Given the description of an element on the screen output the (x, y) to click on. 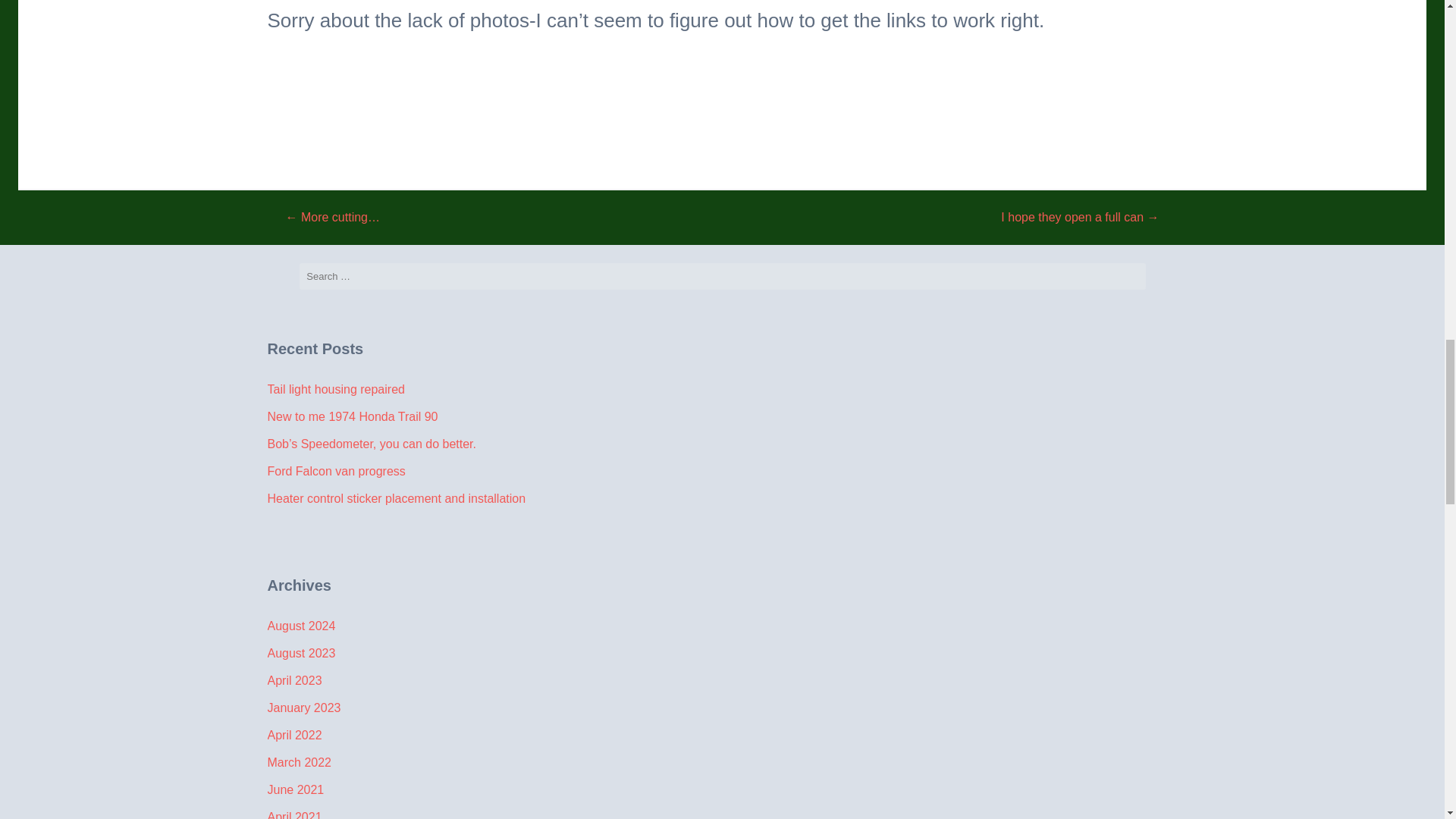
Tail light housing repaired (335, 389)
August 2024 (300, 625)
March 2022 (298, 762)
June 2021 (294, 789)
April 2021 (293, 814)
April 2023 (293, 680)
January 2023 (303, 707)
April 2022 (293, 735)
Ford Falcon van progress (335, 471)
August 2023 (300, 653)
